Given the description of an element on the screen output the (x, y) to click on. 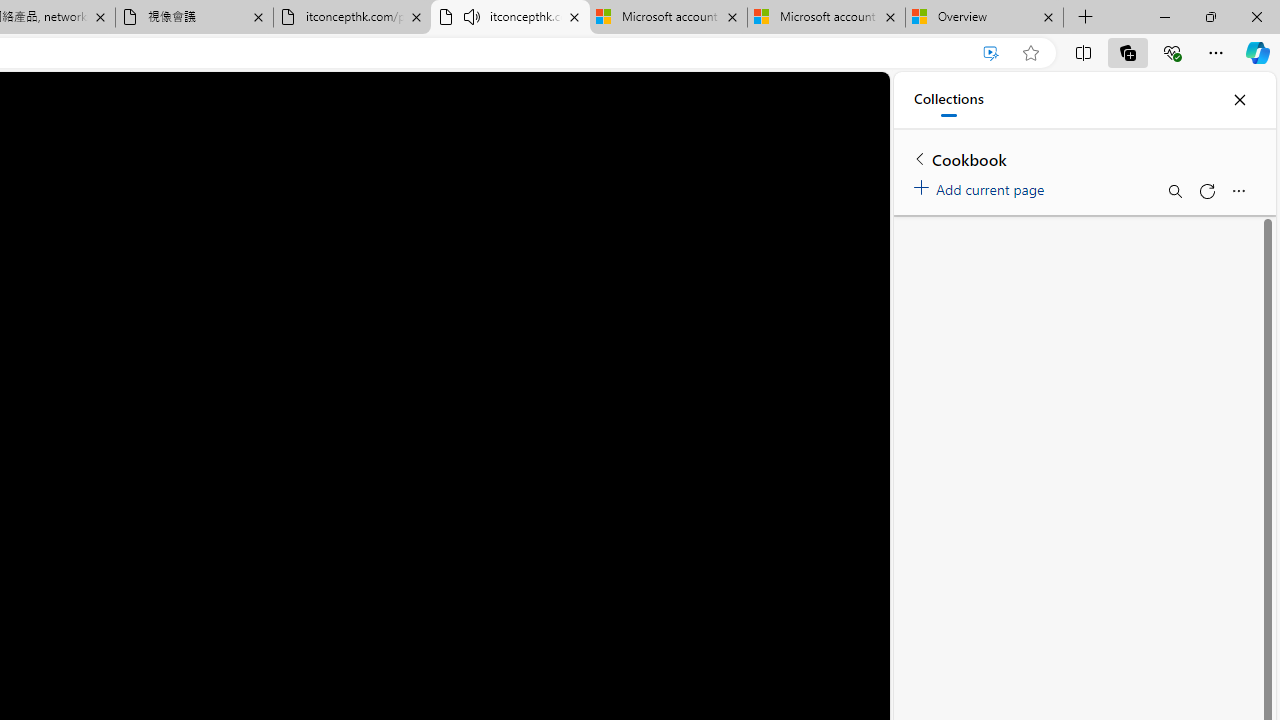
More options menu (1238, 190)
Mute tab (471, 16)
Add current page (982, 186)
itconcepthk.com/projector_solutions.mp4 (352, 17)
Overview (984, 17)
Back to list of collections (920, 158)
Enhance video (991, 53)
